Given the description of an element on the screen output the (x, y) to click on. 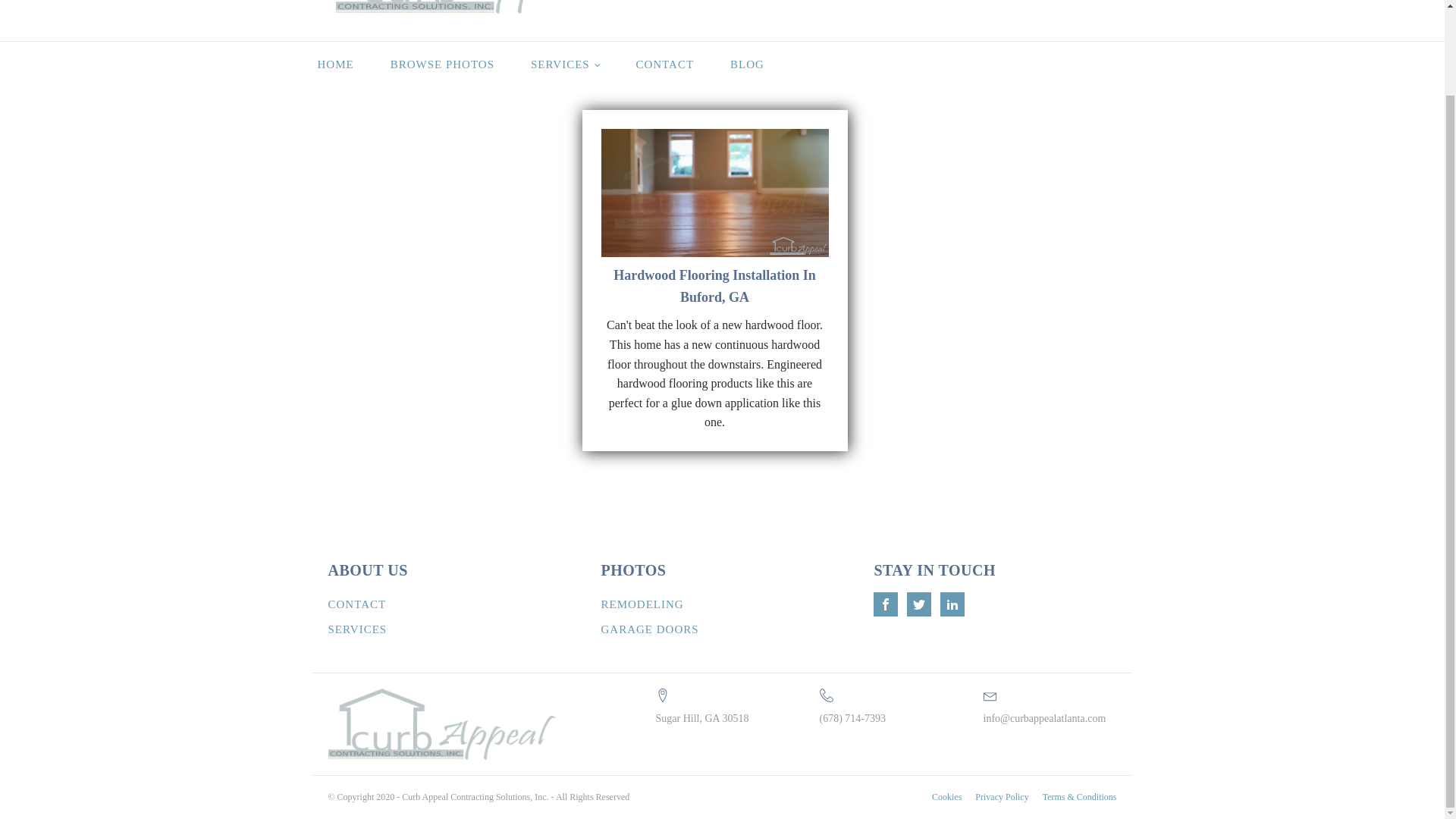
CONTACT (358, 604)
BROWSE PHOTOS (442, 63)
SERVICES (564, 63)
SERVICES (358, 629)
Privacy Policy (1001, 797)
BLOG (747, 63)
HOME (334, 63)
CONTACT (664, 63)
GARAGE DOORS (648, 629)
Cookies (945, 797)
